Given the description of an element on the screen output the (x, y) to click on. 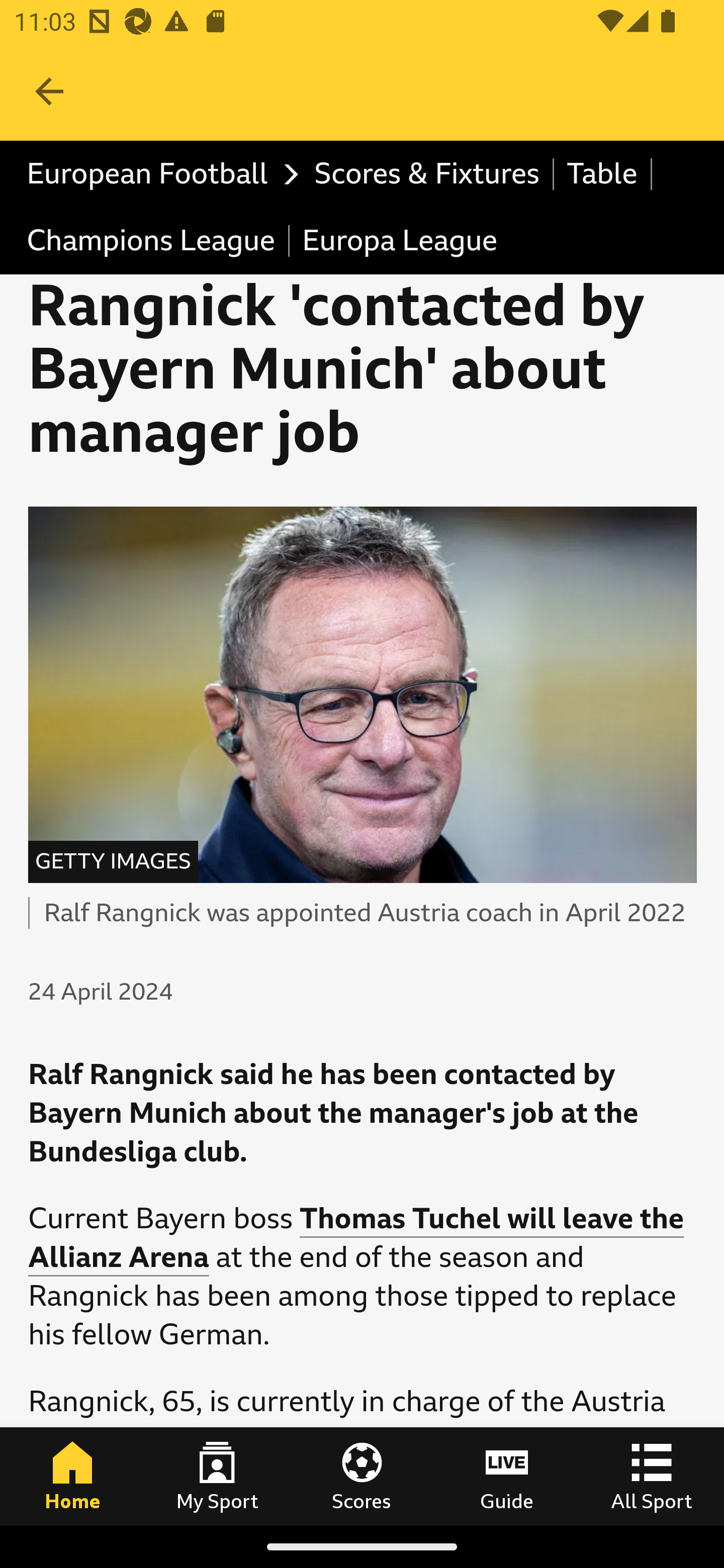
Navigate up (49, 91)
European Football (157, 173)
Scores & Fixtures (426, 173)
Table (602, 173)
Champions League (151, 240)
Europa League (399, 240)
Thomas Tuchel will leave the Allianz Arena (356, 1237)
My Sport (216, 1475)
Scores (361, 1475)
Guide (506, 1475)
All Sport (651, 1475)
